Given the description of an element on the screen output the (x, y) to click on. 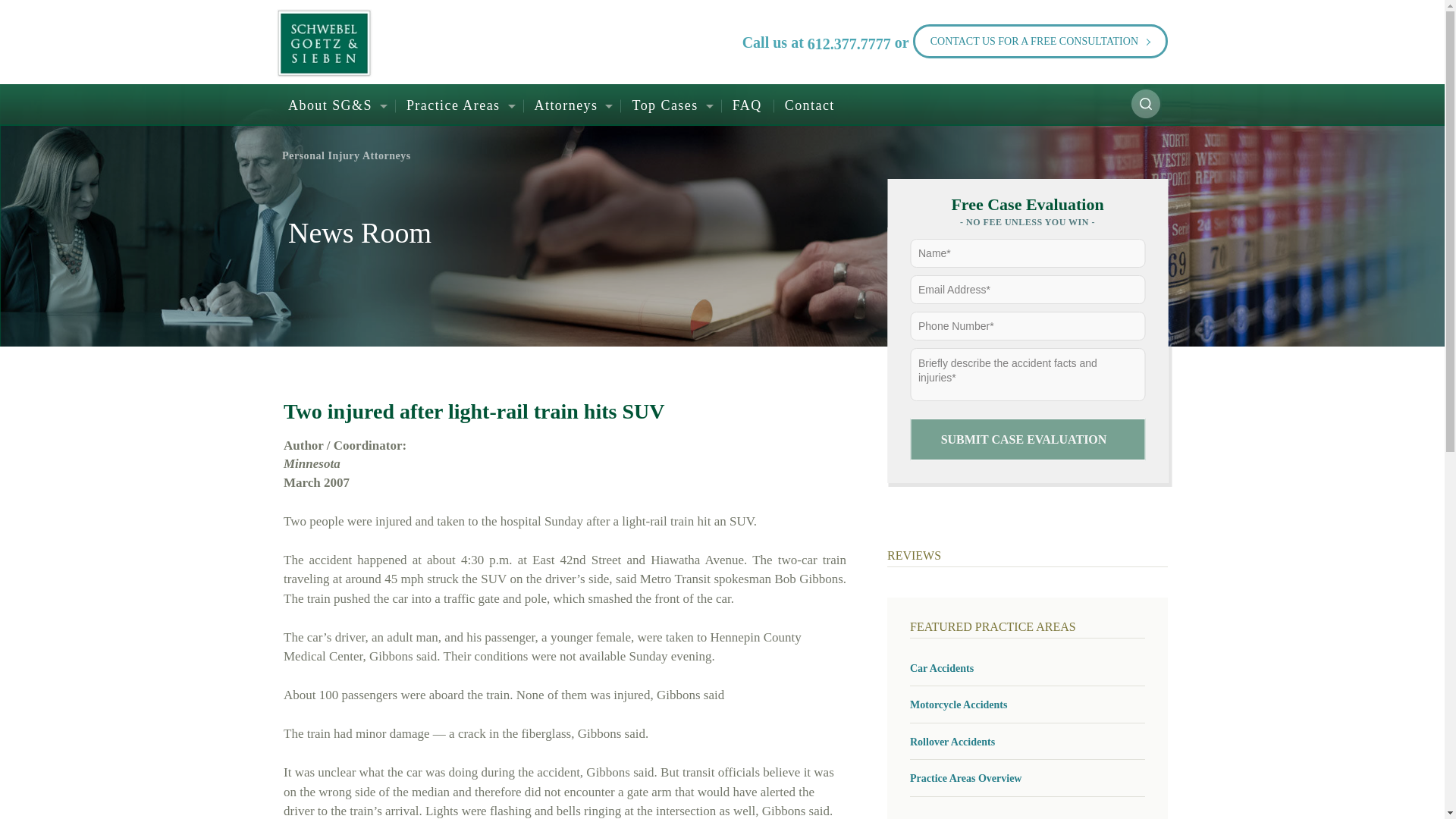
612.377.7777 (849, 44)
CONTACT US FOR A FREE CONSULTATION (1039, 41)
Practice Areas (458, 105)
